Given the description of an element on the screen output the (x, y) to click on. 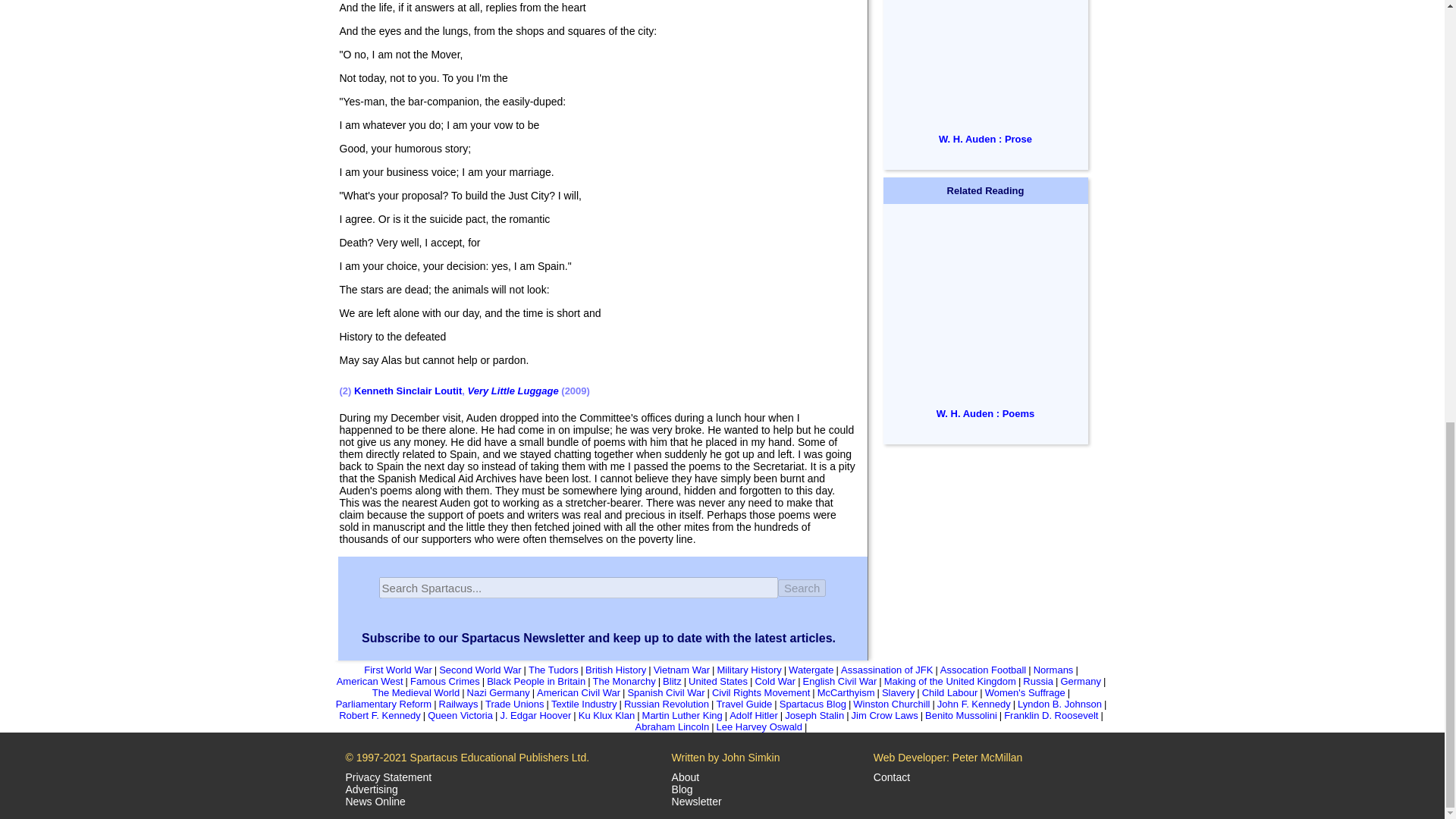
Search (802, 587)
